Given the description of an element on the screen output the (x, y) to click on. 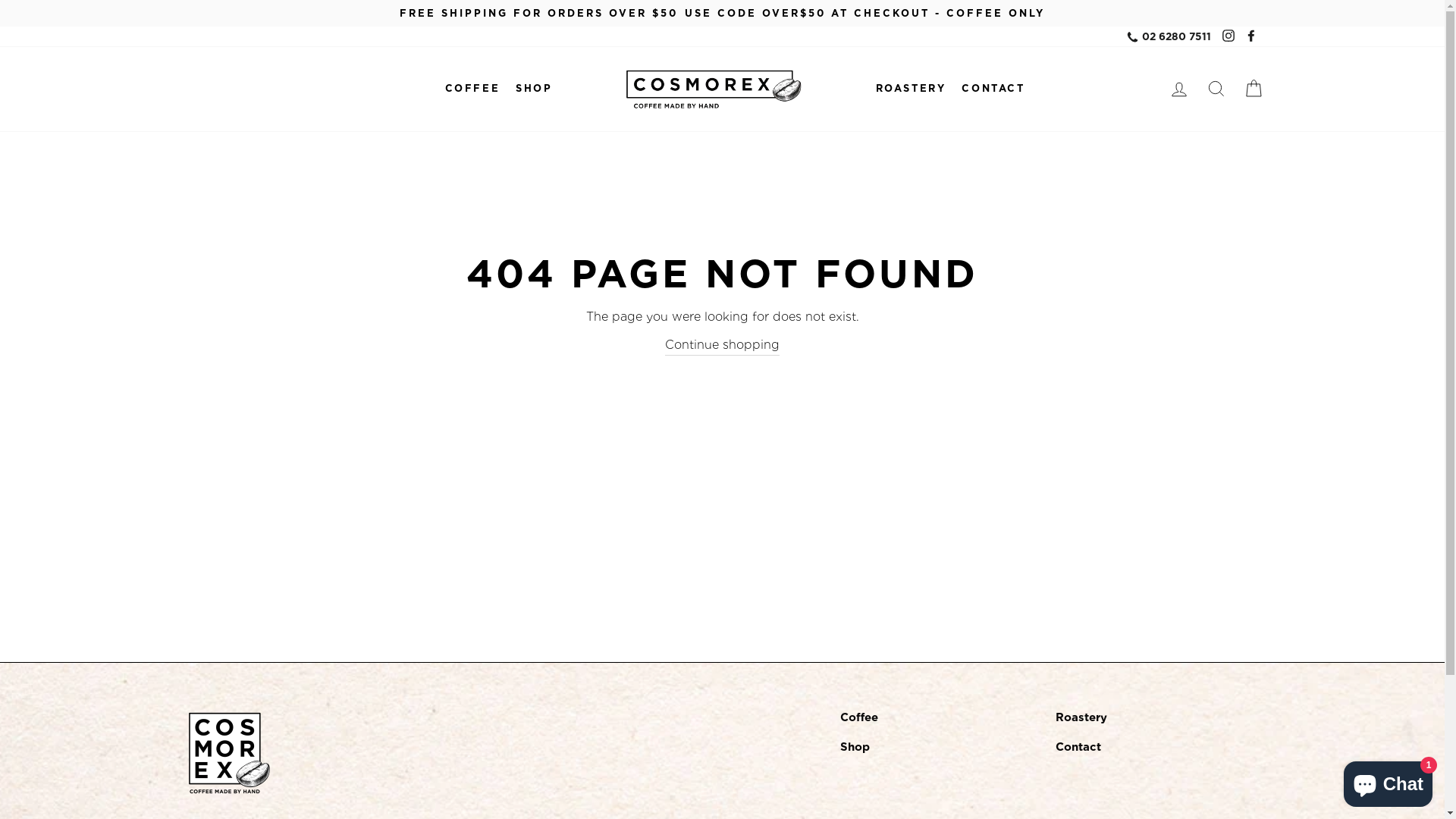
Shop Element type: text (854, 746)
ROASTERY Element type: text (910, 88)
Instagram Element type: text (1227, 36)
CONTACT Element type: text (992, 88)
Skip to content Element type: text (0, 0)
Roastery Element type: text (1081, 717)
Shopify online store chat Element type: hover (1388, 780)
LOG IN Element type: text (1178, 88)
SHOP Element type: text (533, 88)
SEARCH Element type: text (1216, 88)
COFFEE Element type: text (472, 88)
Continue shopping Element type: text (722, 344)
Facebook Element type: text (1250, 36)
Coffee Element type: text (859, 717)
Contact Element type: text (1078, 746)
CART Element type: text (1252, 88)
